Given the description of an element on the screen output the (x, y) to click on. 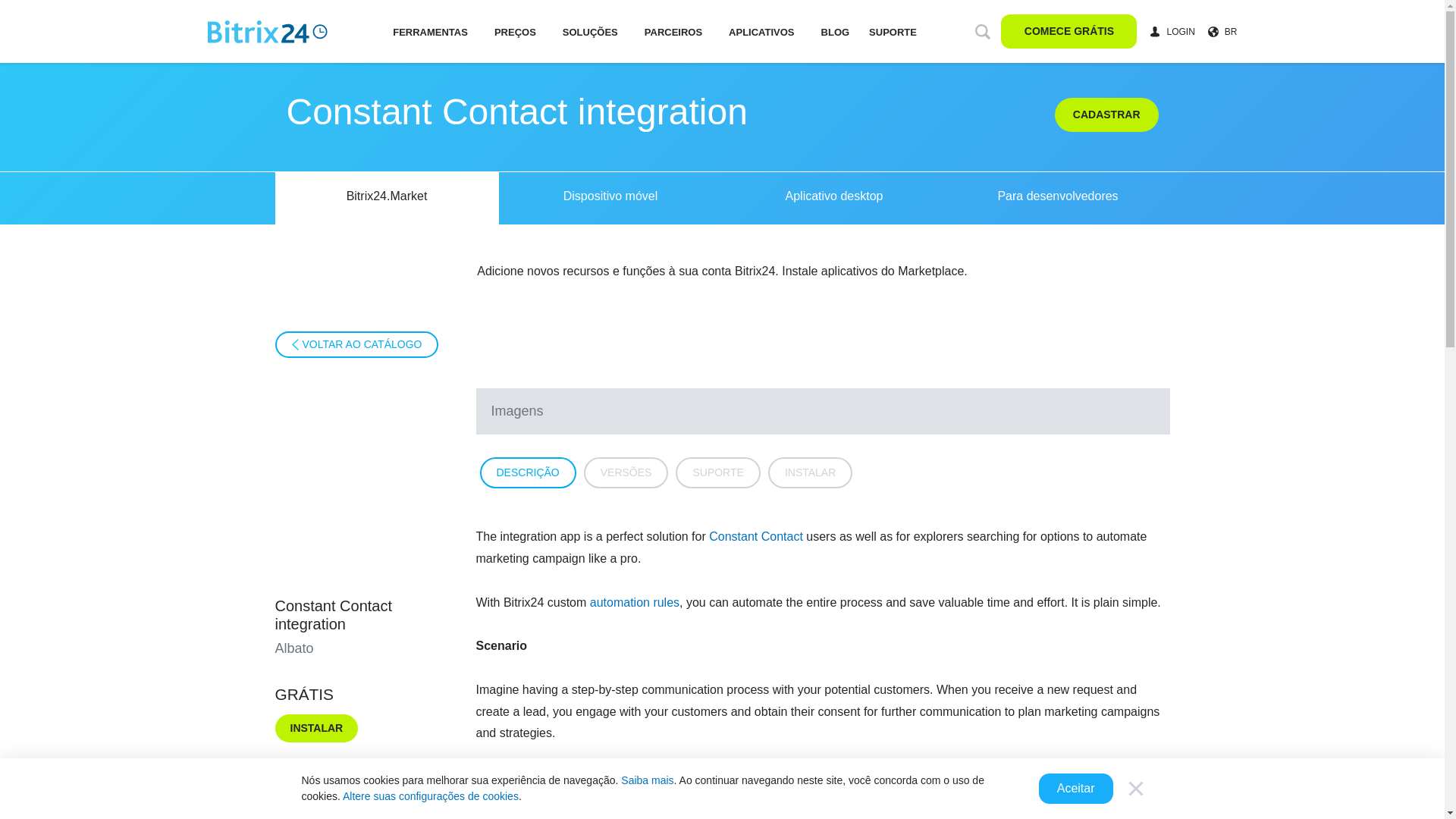
Aplicativo desktop (833, 197)
APLICATIVOS (761, 31)
BLOG (835, 31)
PARCEIROS (673, 31)
SUPORTE (892, 30)
Bitrix24.Market (386, 197)
Para desenvolvedores (1058, 197)
CADASTRAR (1106, 114)
FERRAMENTAS (430, 31)
